Given the description of an element on the screen output the (x, y) to click on. 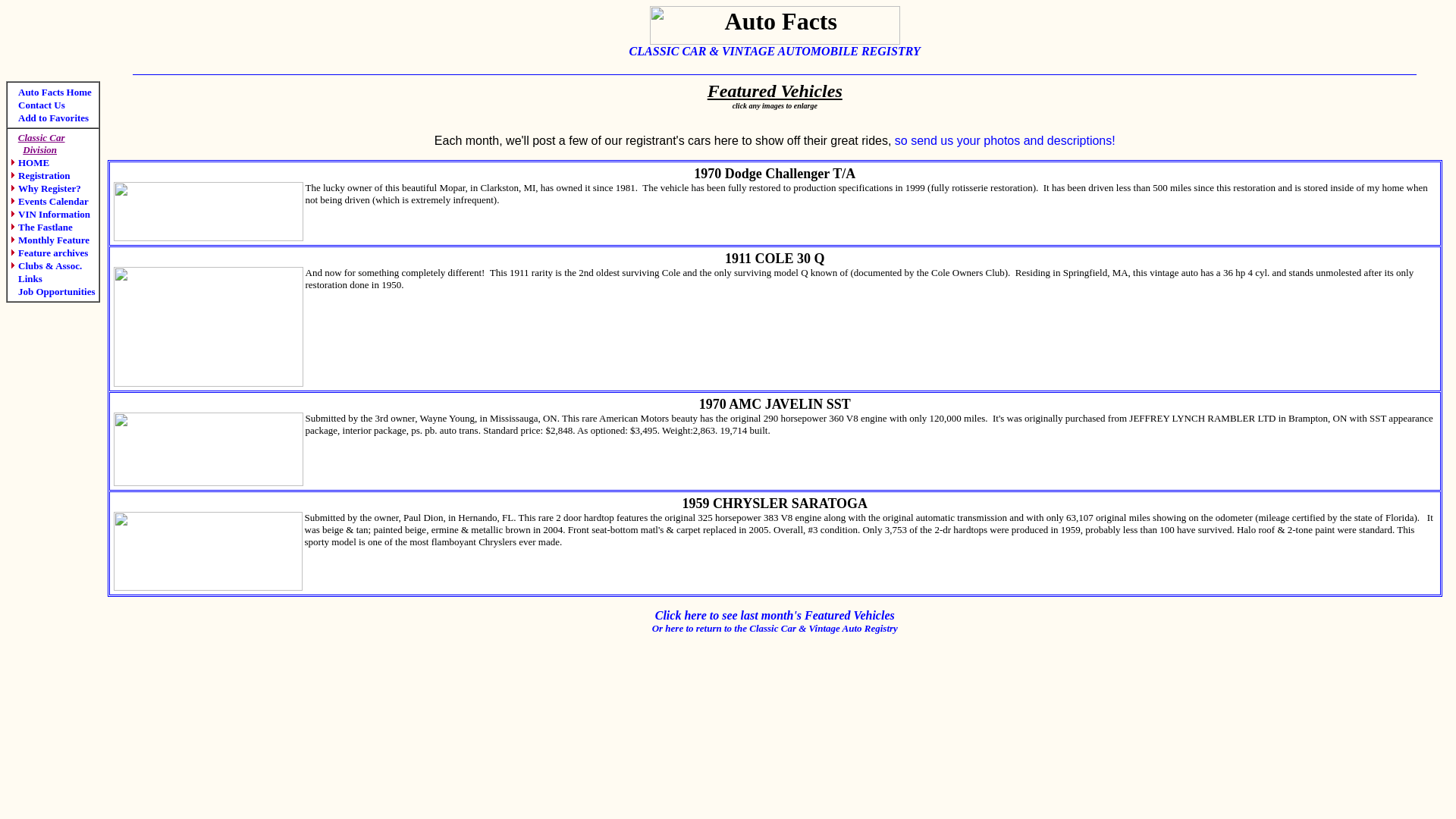
Or here to return to the Classic Car & Vintage Auto Registry Element type: text (774, 627)
Clubs & Assoc. Element type: text (45, 265)
Why Register? Element type: text (45, 188)
HOME Element type: text (29, 162)
so send us your photos and descriptions! Element type: text (1004, 140)
Click here to see last month's Featured Vehicles Element type: text (774, 614)
Monthly Feature Element type: text (49, 239)
Job Opportunities Element type: text (52, 291)
Registration Element type: text (40, 175)
Contact Us Element type: text (37, 104)
Feature archives Element type: text (48, 252)
Links Element type: text (26, 278)
The Fastlane Element type: text (41, 226)
Auto Facts Home Element type: text (50, 91)
Add to Favorites Element type: text (49, 117)
Events Calendar Element type: text (49, 201)
VIN Information Element type: text (50, 213)
